Given the description of an element on the screen output the (x, y) to click on. 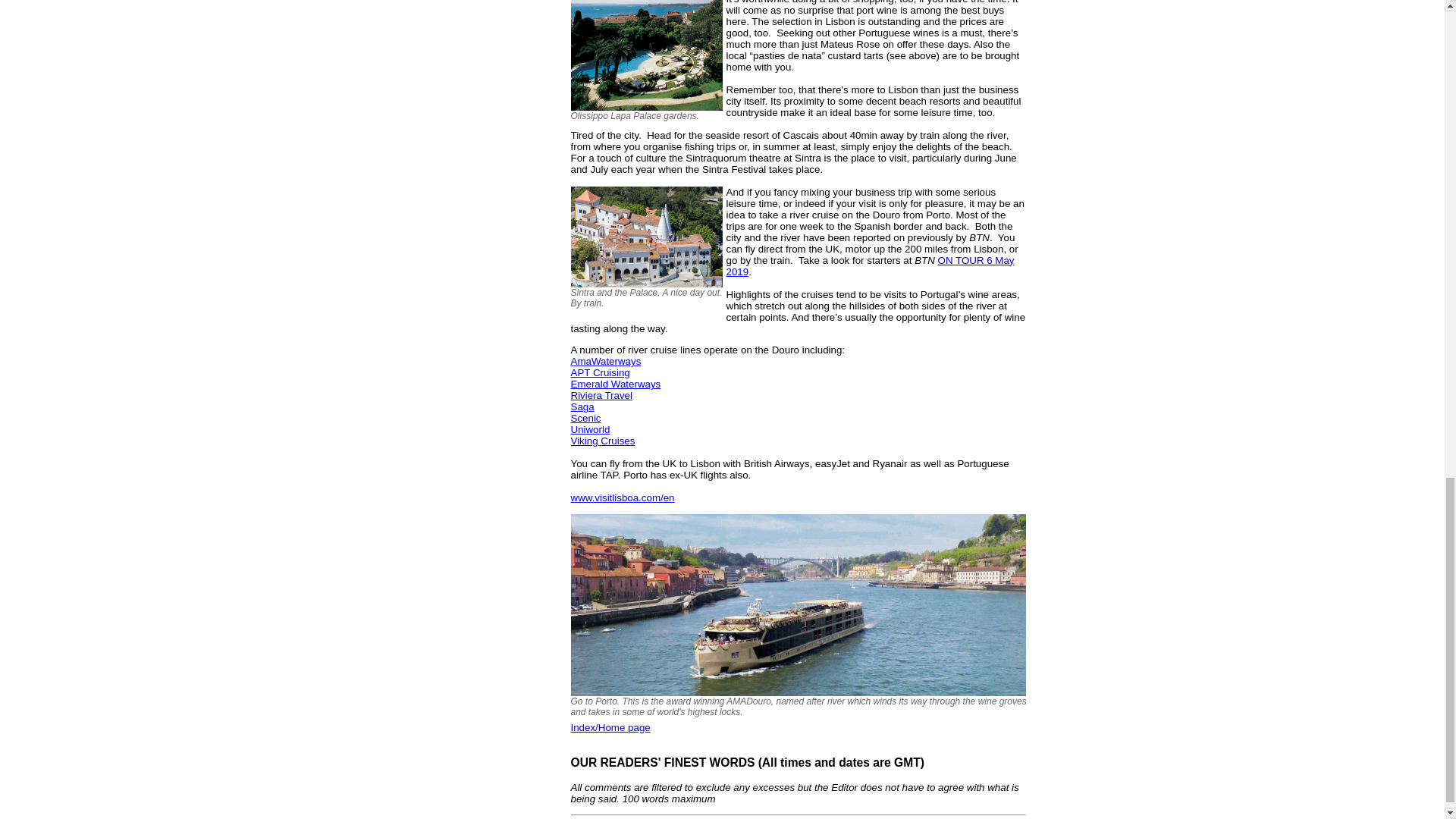
Saga (582, 406)
Sintra and the Palace. A nice day out. By train. (647, 236)
Olissippo Lapa Palace gardens. (647, 55)
Scenic (584, 418)
Viking Cruises (602, 440)
APT Cruising (599, 372)
Uniworld (590, 429)
AmaWaterways (605, 360)
Riviera Travel (600, 395)
